Given the description of an element on the screen output the (x, y) to click on. 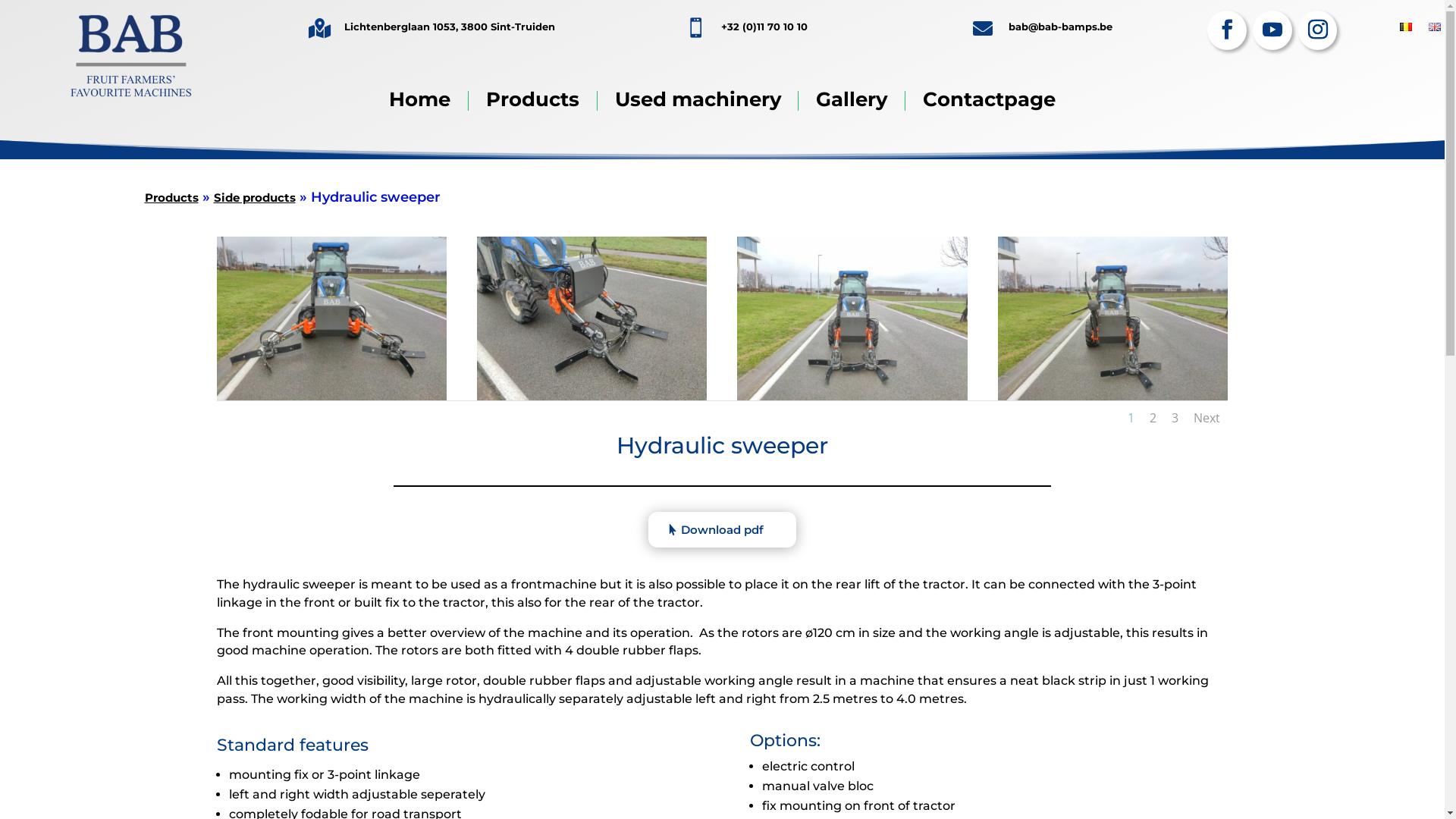
Contactpage Element type: text (988, 100)
1 Element type: text (1130, 417)
Products Element type: text (532, 100)
Side products Element type: text (254, 197)
Follow on Youtube Element type: hover (1272, 30)
Used machinery Element type: text (697, 100)
Products Element type: text (170, 197)
Download pdf Element type: text (722, 529)
IMG_20230204_110501 Element type: hover (331, 396)
IMG_20230204_110141 Element type: hover (851, 396)
IMG_20230204_105955 Element type: hover (1112, 396)
Logo Bab Bamps Element type: hover (129, 55)
Gallery Element type: text (851, 100)
IMG_20230204_110222 Element type: hover (591, 396)
3 Element type: text (1174, 417)
2 Element type: text (1152, 417)
Follow on Facebook Element type: hover (1226, 30)
Next Element type: text (1206, 417)
Home Element type: text (419, 100)
Follow on Instagram Element type: hover (1317, 30)
